Given the description of an element on the screen output the (x, y) to click on. 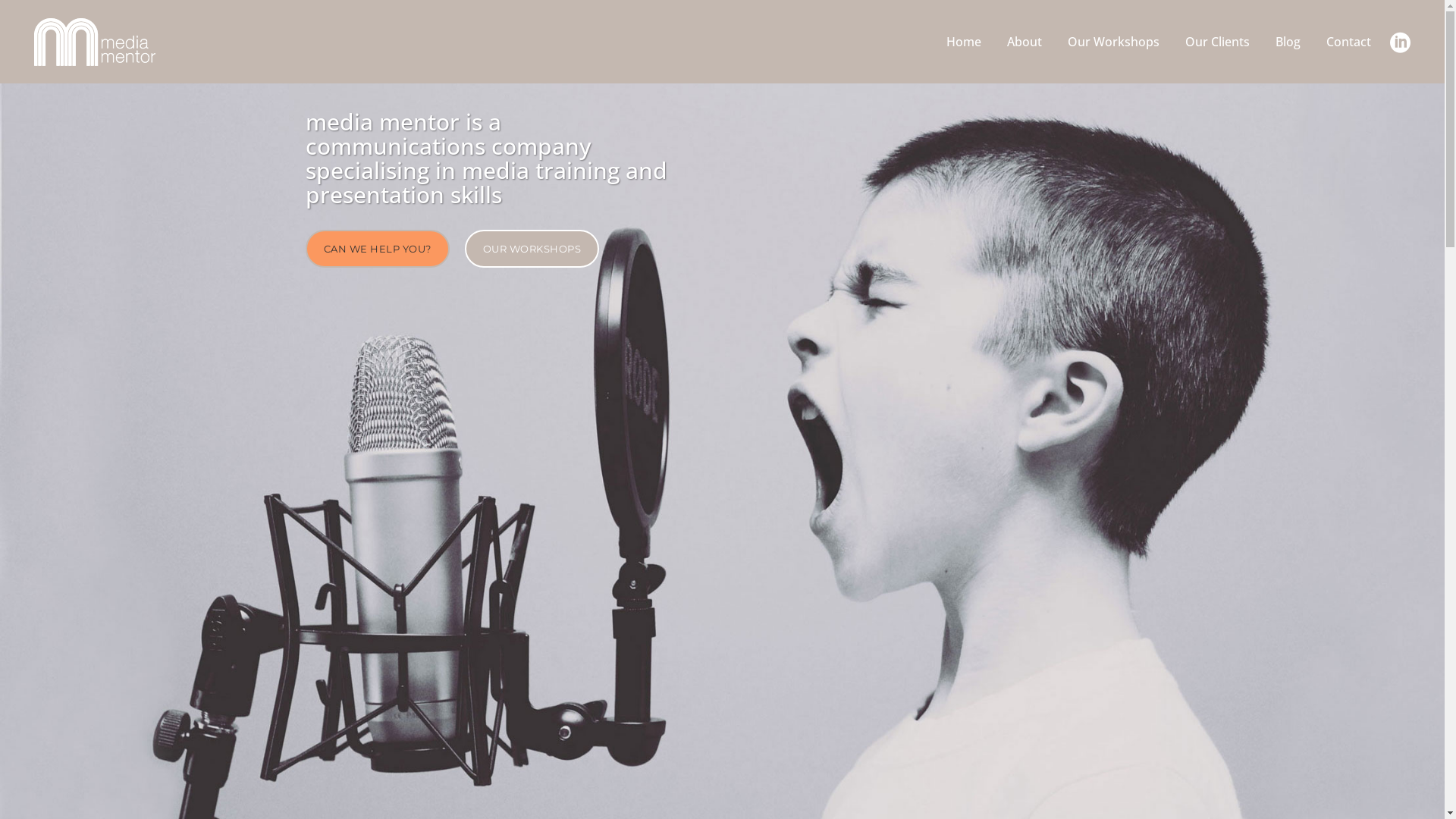
CAN WE HELP YOU? Element type: text (376, 248)
Our Workshops Element type: text (1113, 41)
About Element type: text (1024, 41)
Our Clients Element type: text (1217, 41)
Blog Element type: text (1287, 41)
Home Element type: text (963, 41)
OUR WORKSHOPS Element type: text (531, 248)
Contact Element type: text (1348, 41)
